Given the description of an element on the screen output the (x, y) to click on. 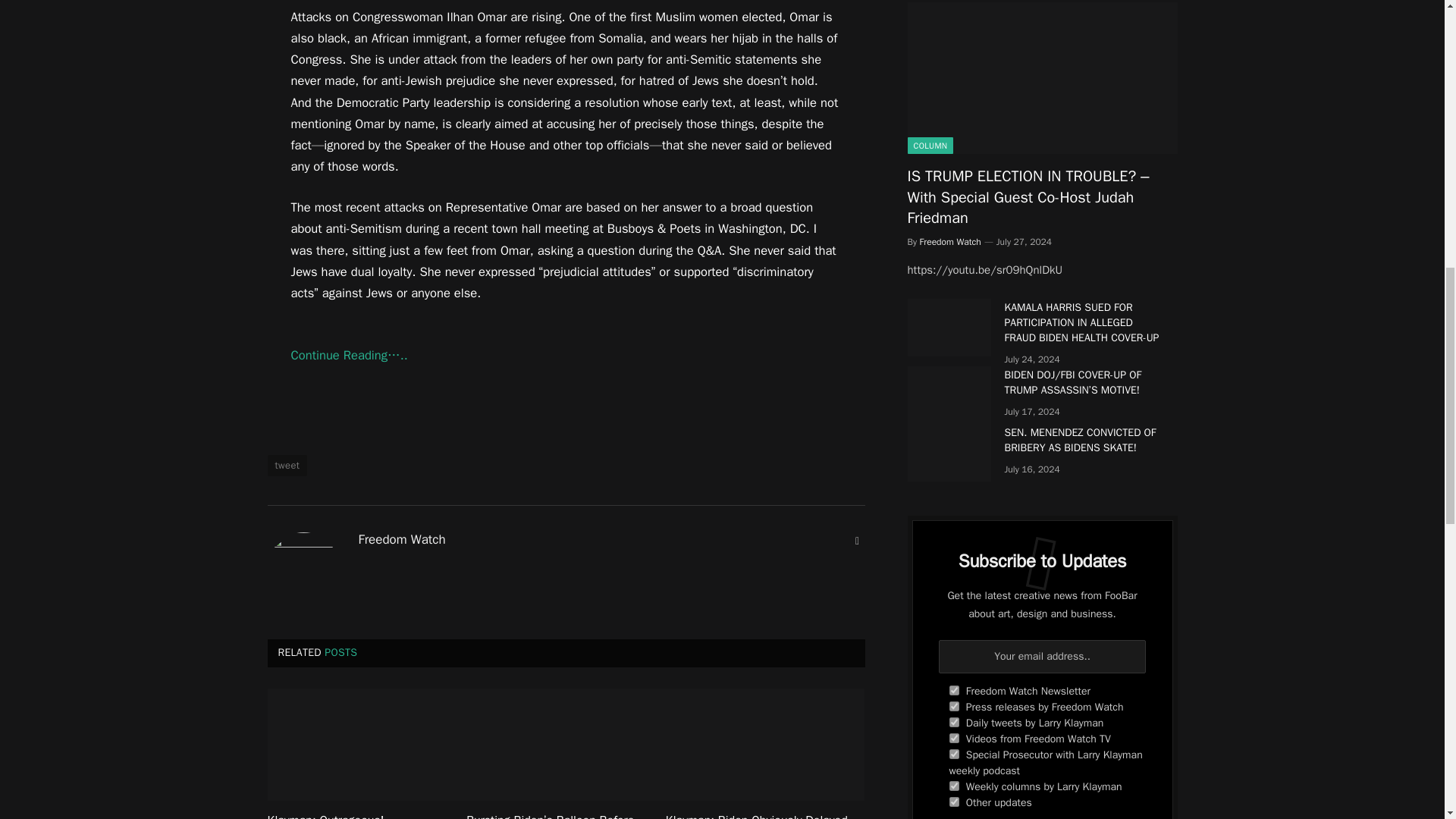
Website (856, 540)
Weekly columns by Larry Klayman (954, 786)
Freedom Watch Newsletter (954, 690)
Press releases by Freedom Watch (954, 706)
Other updates (954, 801)
Daily tweets by Larry Klayman (954, 722)
tweet (286, 465)
Website (856, 540)
Freedom Watch (401, 539)
Klayman: Outrageous! (365, 744)
Videos from Freedom Watch TV (954, 737)
Klayman: Outrageous! (365, 816)
Special Prosecutor with Larry Klayman weekly podcast (954, 754)
Posts by Freedom Watch (401, 539)
